Given the description of an element on the screen output the (x, y) to click on. 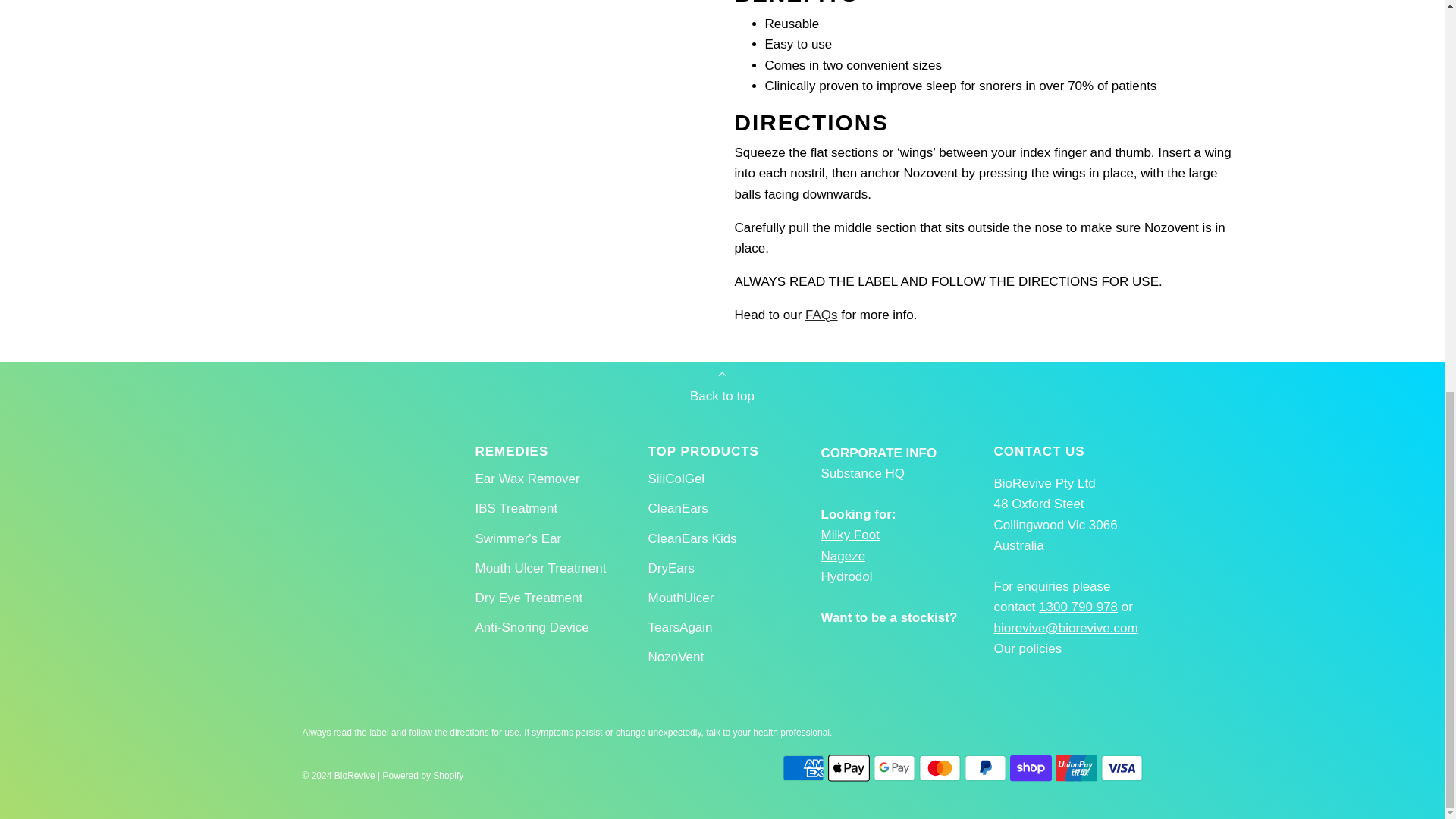
Mastercard (939, 767)
Google Pay (894, 767)
tel:1300790978 (1078, 606)
Contact (888, 617)
Union Pay (1076, 767)
American Express (803, 767)
PayPal (984, 767)
Visa (1121, 767)
Policies (1026, 648)
Shop Pay (1030, 767)
